Given the description of an element on the screen output the (x, y) to click on. 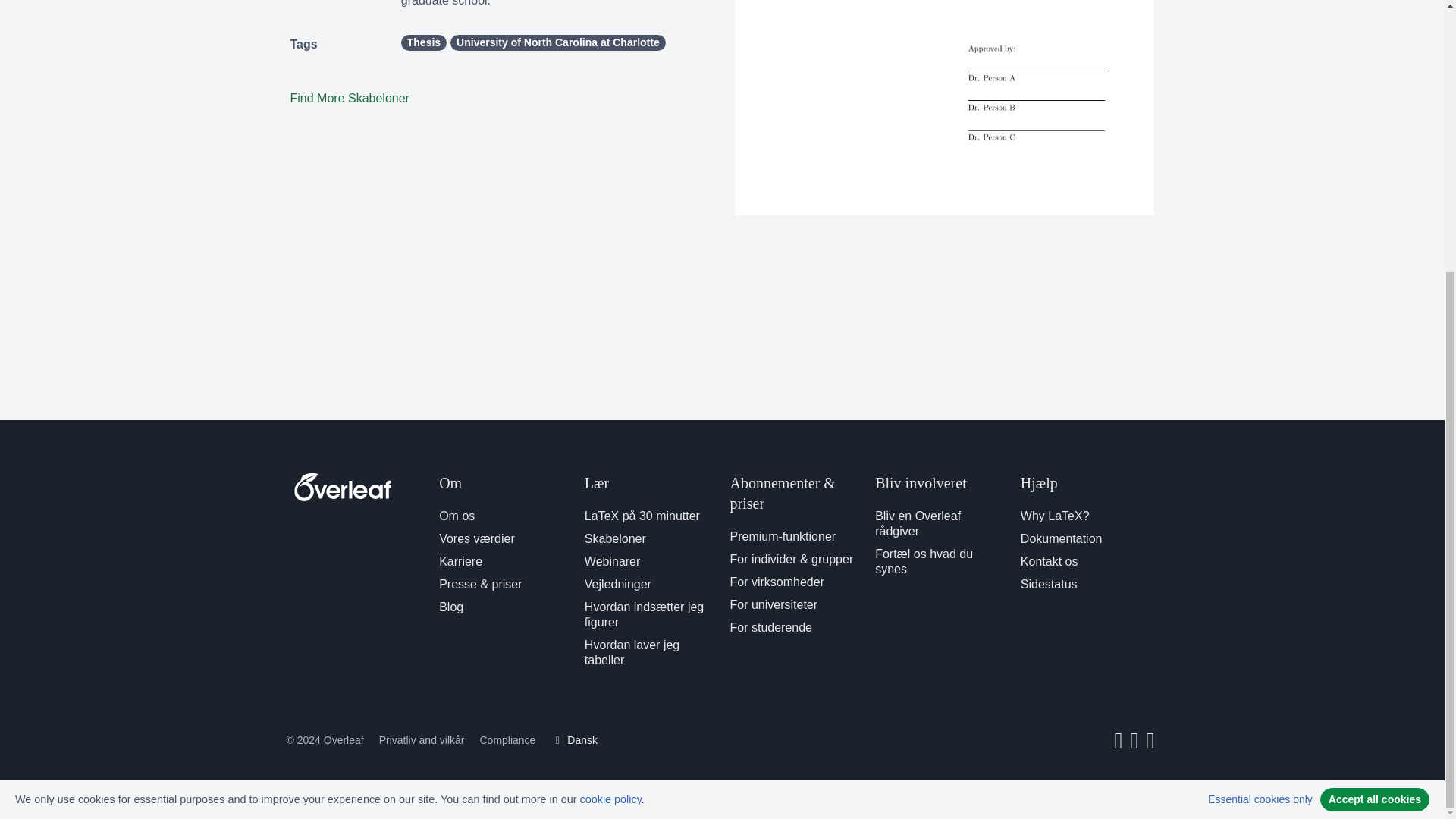
Om os (456, 515)
Skabeloner (615, 538)
Karriere (460, 561)
Premium-funktioner (782, 535)
Vejledninger (617, 584)
Webinarer (612, 561)
Find More Skabeloner (349, 97)
University of North Carolina at Charlotte (557, 42)
Hvordan laver jeg tabeller (632, 652)
Thesis (423, 42)
Blog (451, 606)
For virksomheder (776, 581)
